Given the description of an element on the screen output the (x, y) to click on. 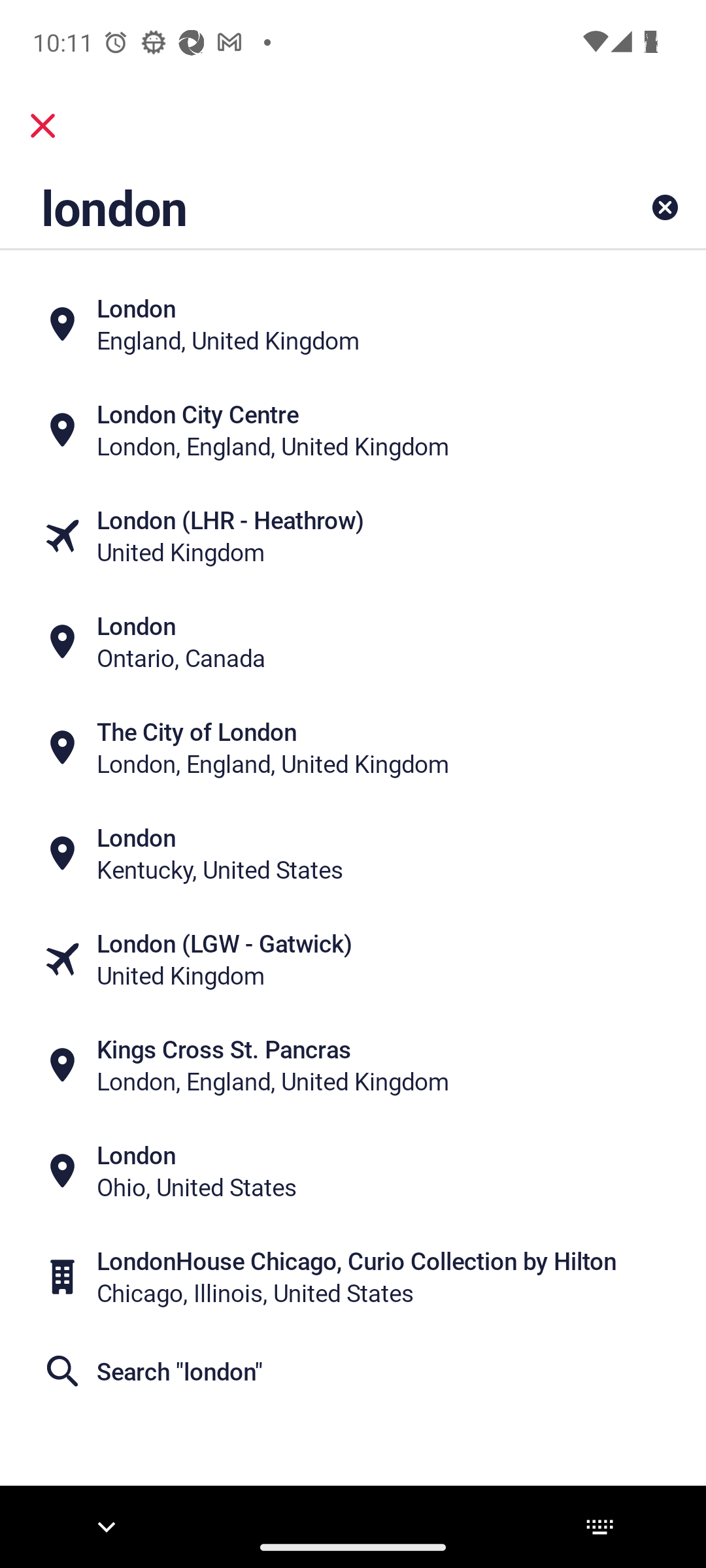
close. (43, 125)
london (290, 206)
Clear (664, 206)
London England, United Kingdom (353, 323)
London City Centre London, England, United Kingdom (353, 429)
London (LHR - Heathrow) United Kingdom (353, 535)
London Ontario, Canada (353, 641)
The City of London London, England, United Kingdom (353, 746)
London Kentucky, United States (353, 852)
London (LGW - Gatwick) United Kingdom (353, 958)
London Ohio, United States (353, 1170)
Search "london" (353, 1370)
